Given the description of an element on the screen output the (x, y) to click on. 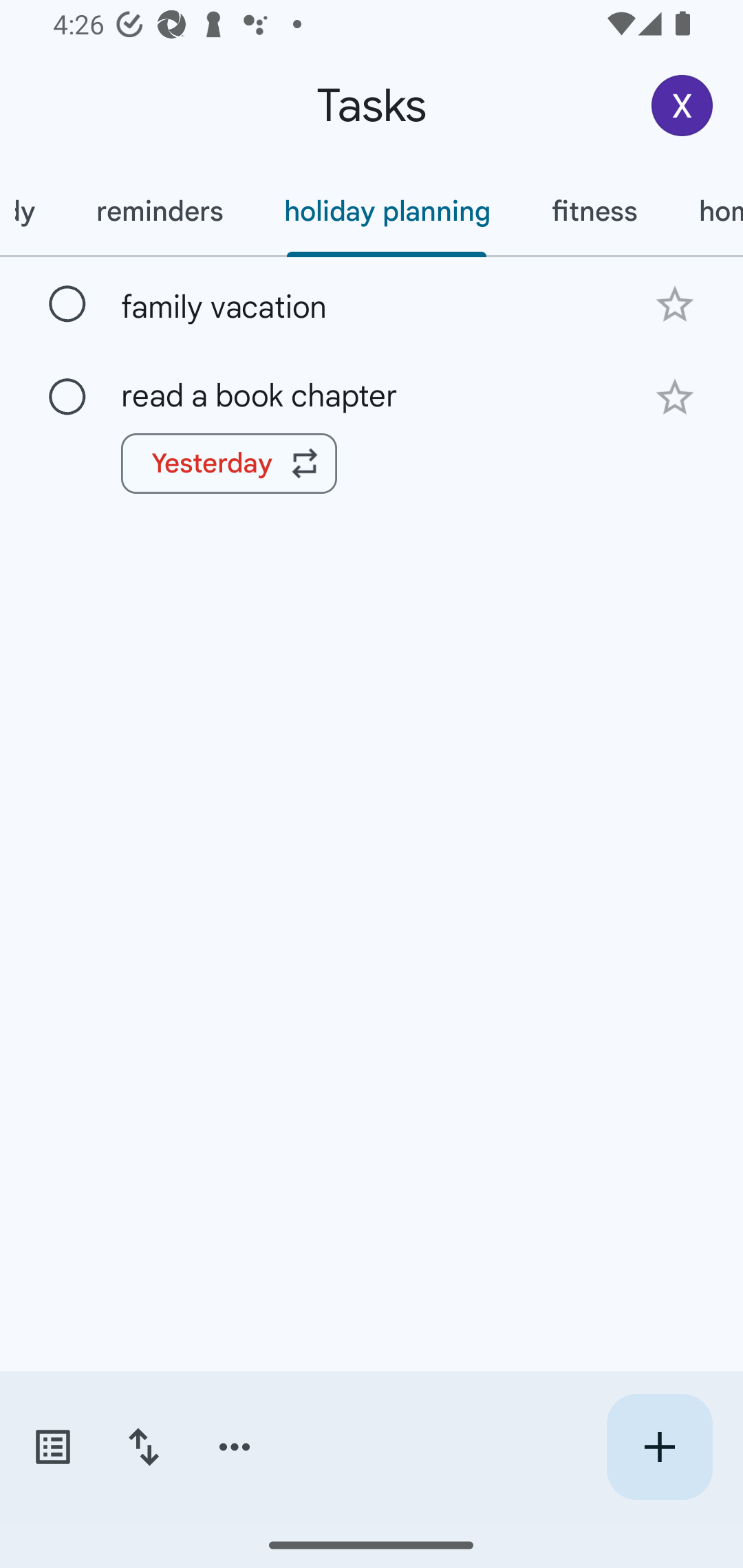
reminders (159, 211)
fitness (593, 211)
Add star (674, 303)
Mark as complete (67, 304)
Add star (674, 397)
Mark as complete (67, 397)
Yesterday (229, 463)
Switch task lists (52, 1447)
Create new task (659, 1446)
Change sort order (143, 1446)
More options (234, 1446)
